Given the description of an element on the screen output the (x, y) to click on. 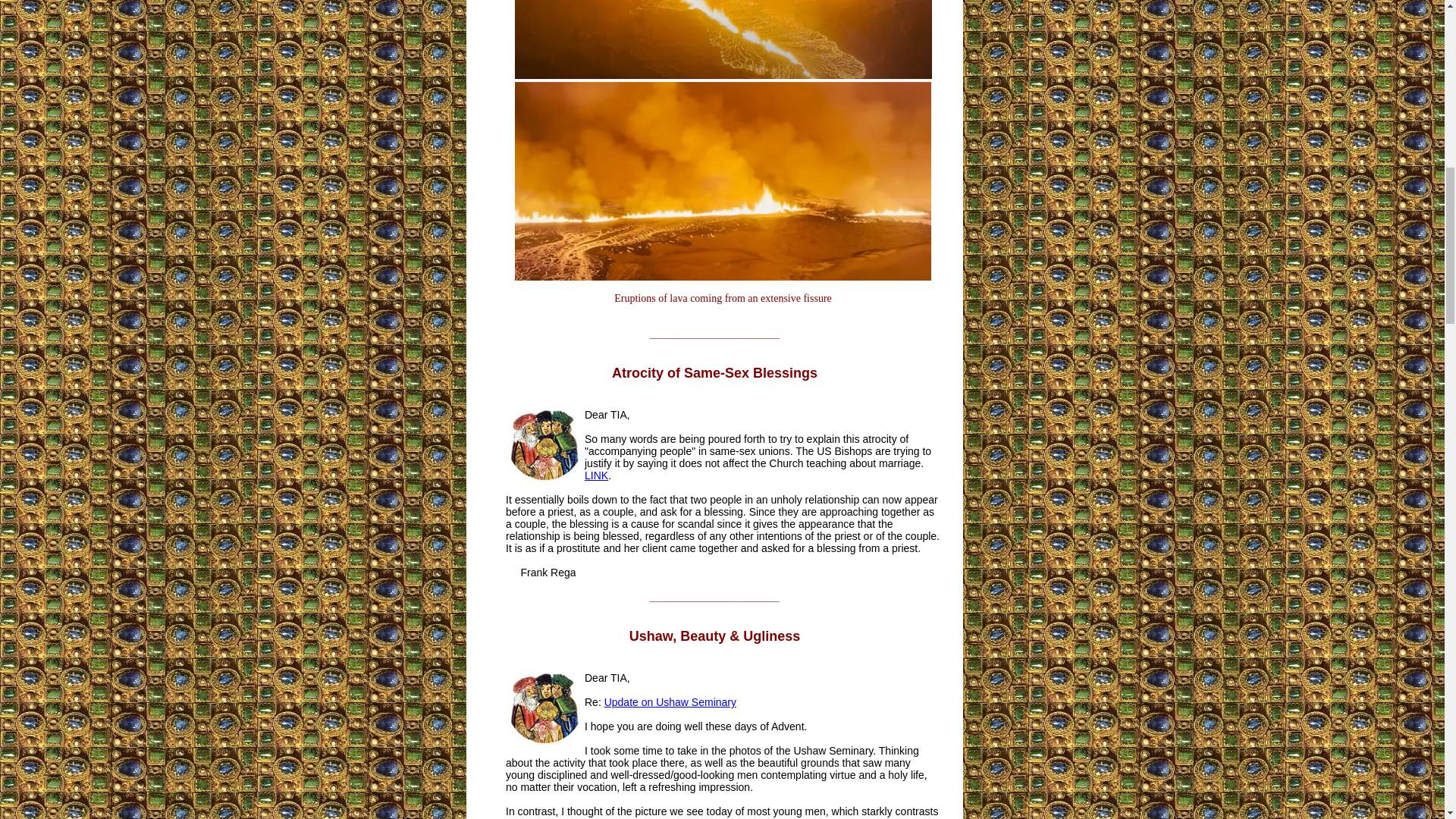
Update on Ushaw Seminary (670, 702)
LINK (596, 475)
